Given the description of an element on the screen output the (x, y) to click on. 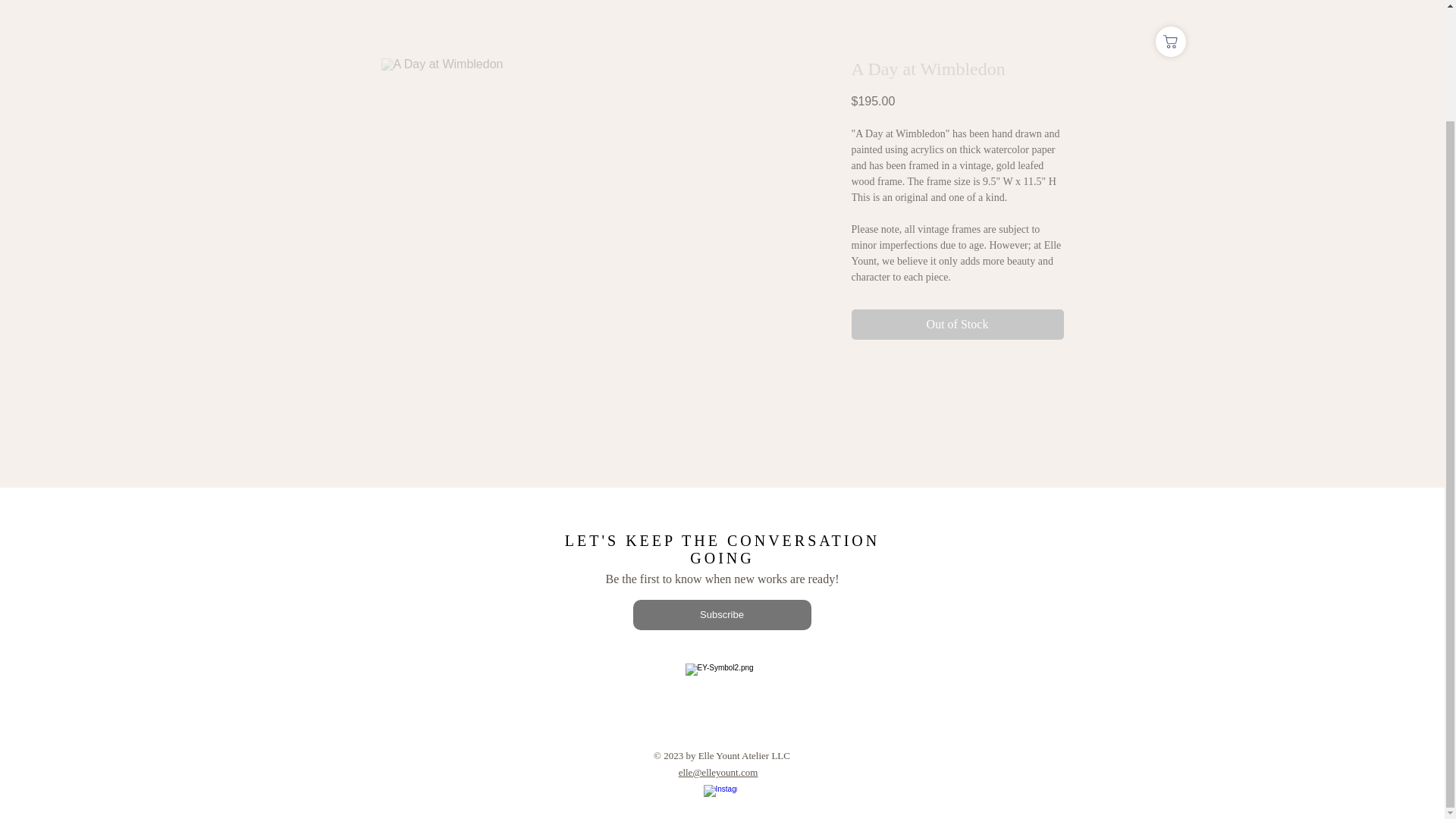
Subscribe (720, 614)
Out of Stock (956, 324)
